Given the description of an element on the screen output the (x, y) to click on. 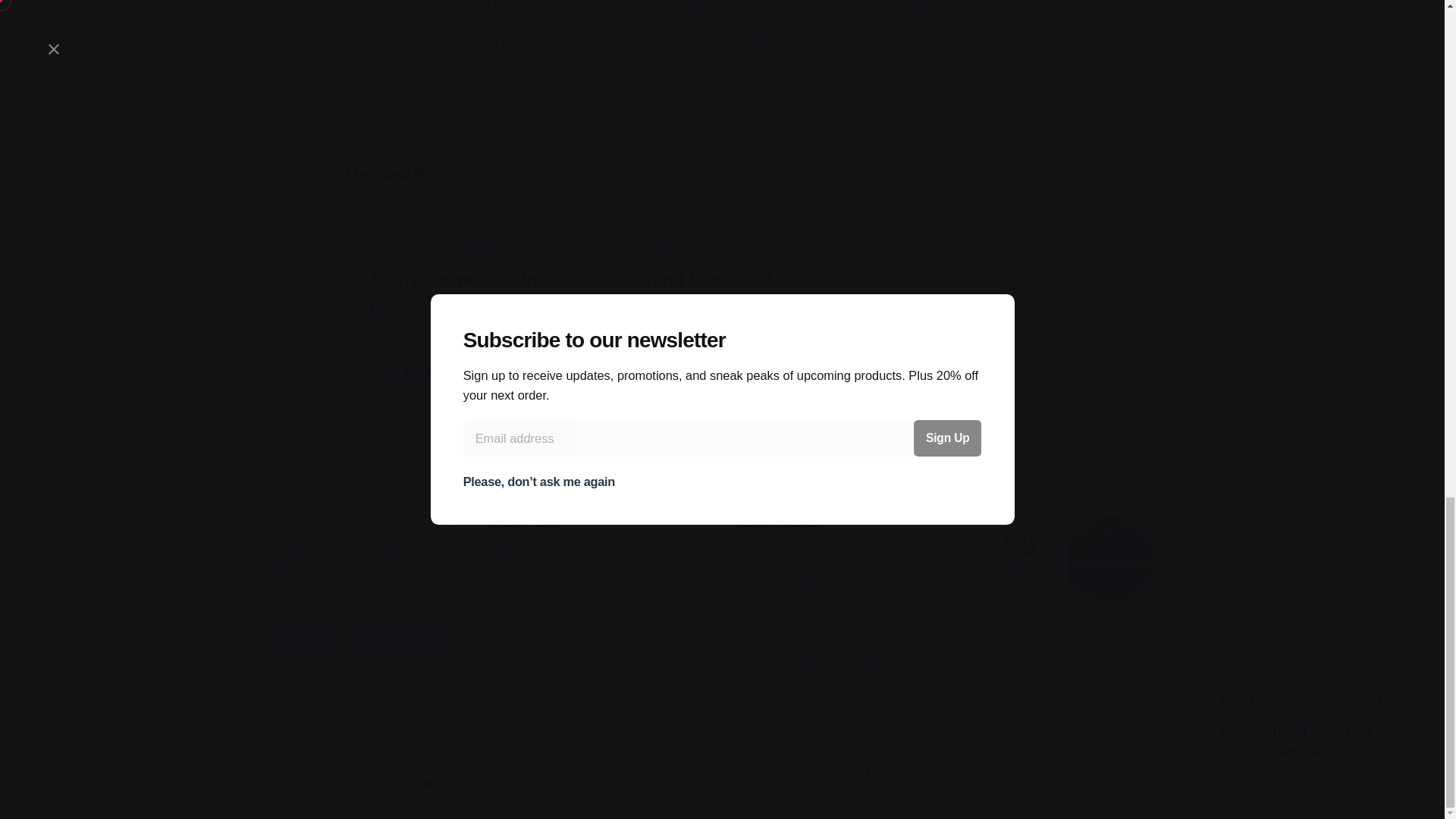
Ibiza Casino 100 Free Spins Bonus 2024 (459, 79)
Richy Farmer Casino (458, 279)
Read More (409, 372)
